Given the description of an element on the screen output the (x, y) to click on. 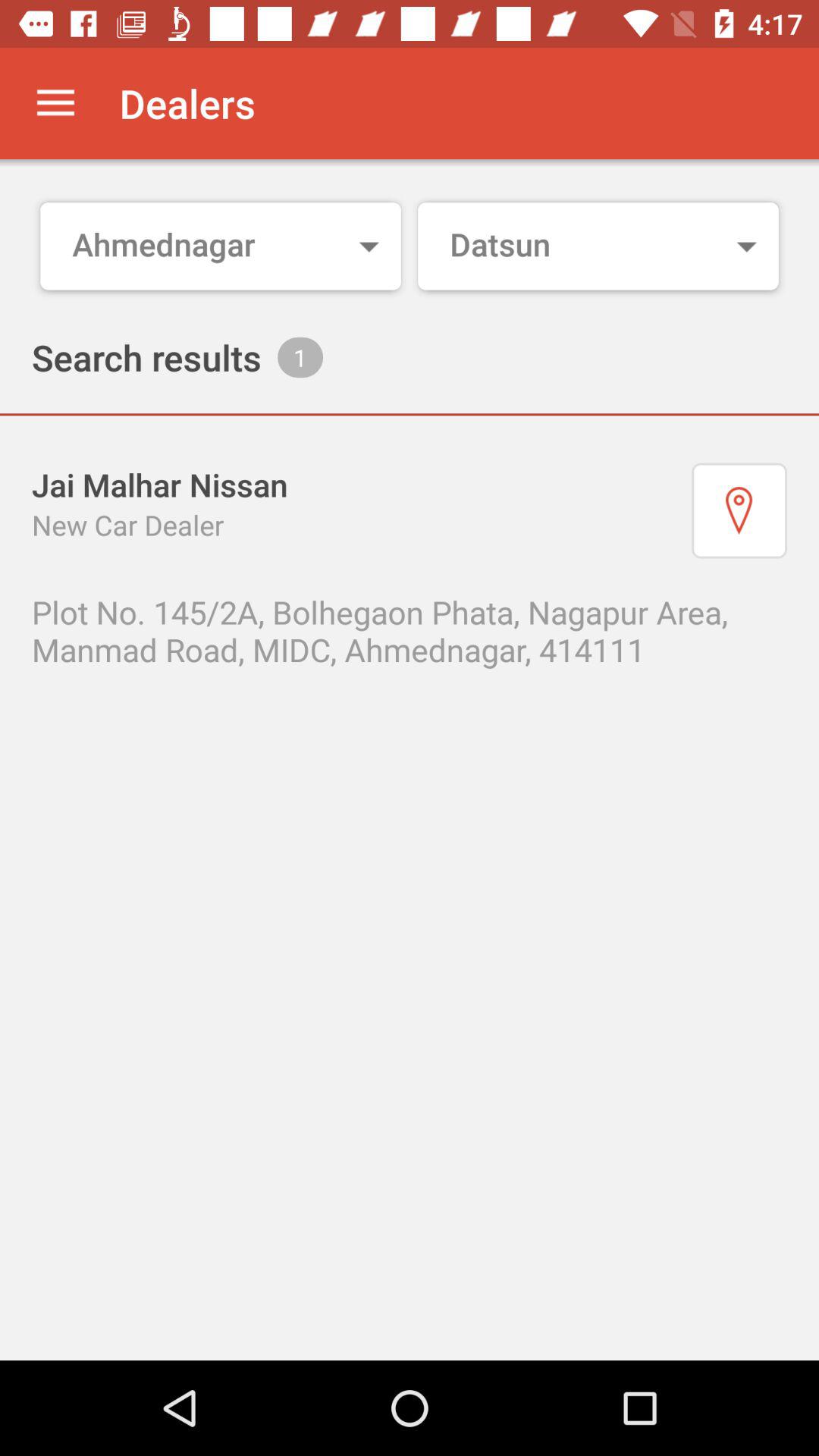
launch item next to the jai malhar nissan icon (739, 510)
